Given the description of an element on the screen output the (x, y) to click on. 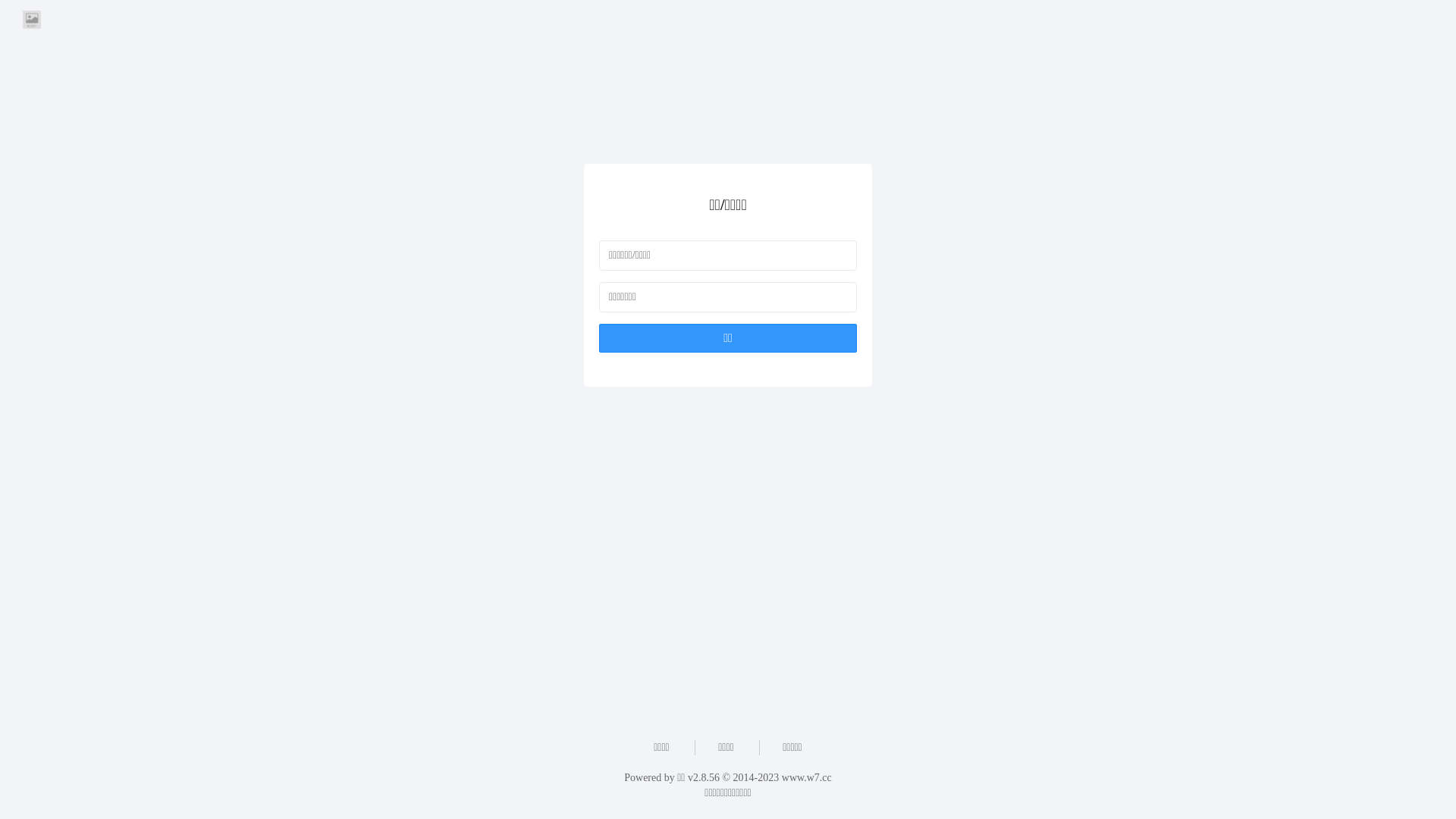
www.w7.cc Element type: text (806, 777)
